Given the description of an element on the screen output the (x, y) to click on. 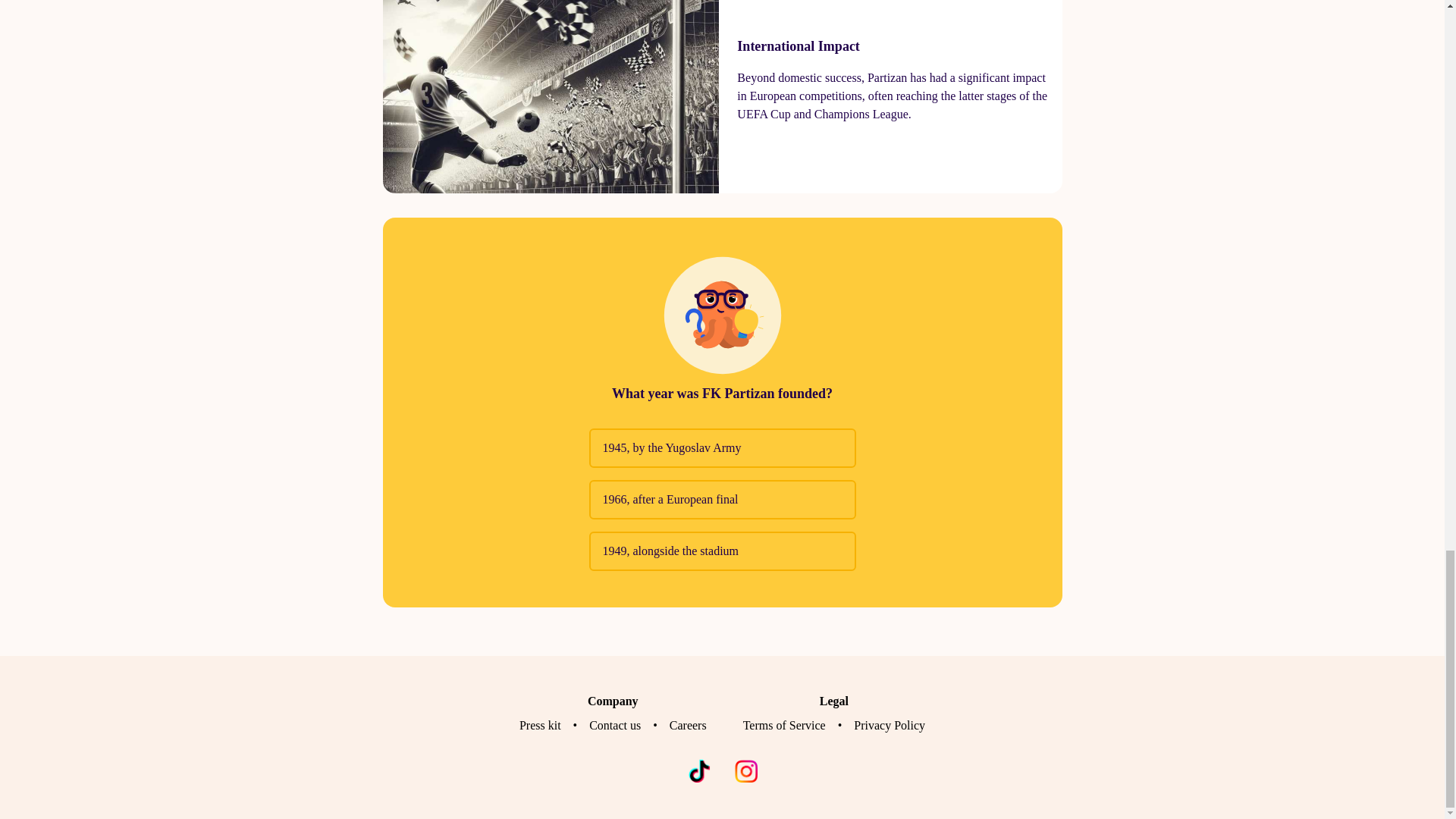
Press kit (539, 725)
Careers (687, 725)
Privacy Policy (888, 725)
Terms of Service (783, 725)
Contact us (614, 725)
